Given the description of an element on the screen output the (x, y) to click on. 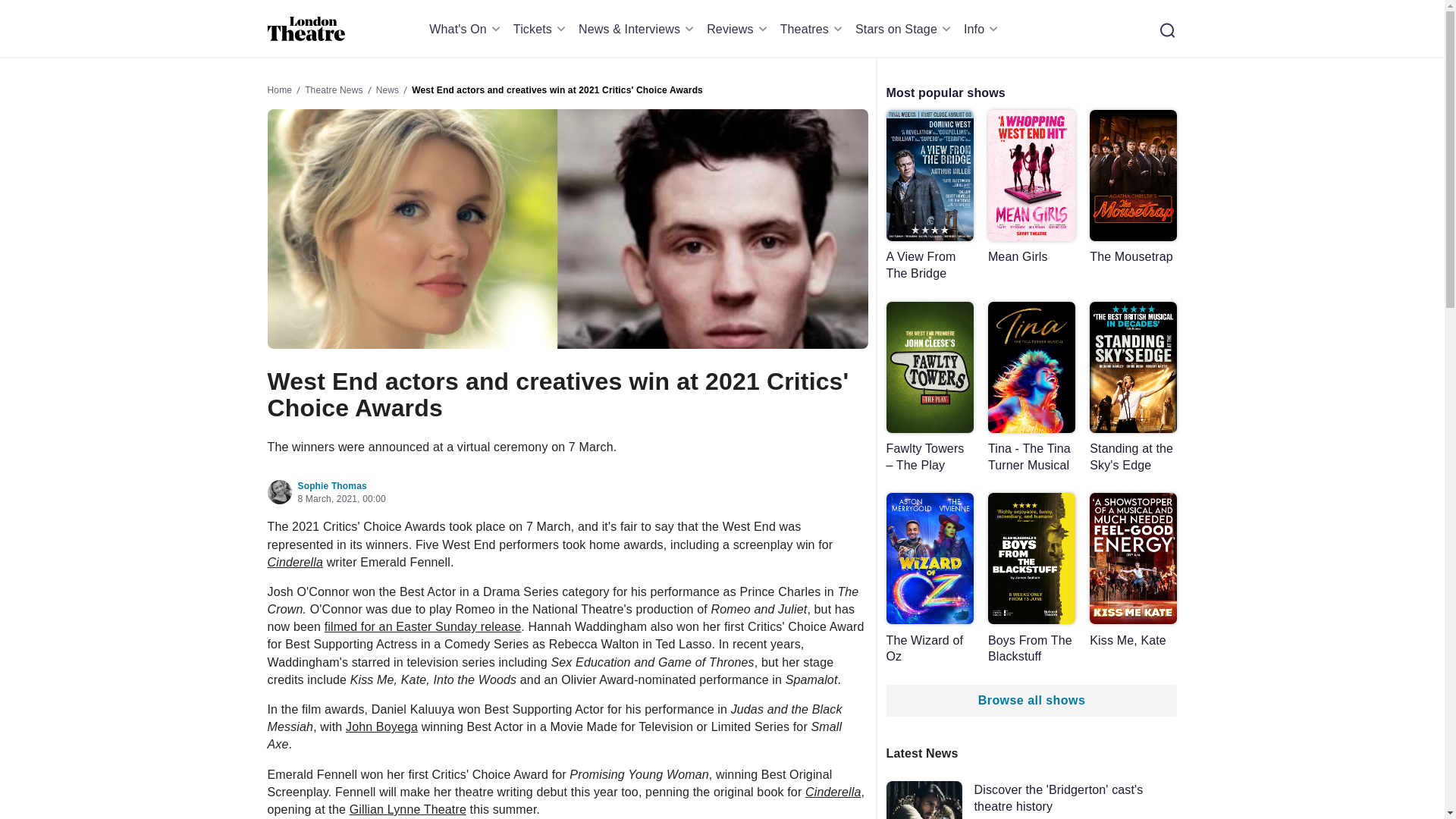
What's On (467, 28)
Read more about Boys From The Blackstuff (1031, 579)
Read more about Kiss Me, Kate (1132, 570)
Read more about The Wizard of Oz (928, 579)
Read more about The Mousetrap (1132, 187)
Read more about Mean Girls (1031, 187)
Read more about Standing at the Sky's Edge  (1132, 388)
Read more about Tina - The Tina Turner Musical (1031, 388)
Reviews (739, 28)
Read more about A View From The Bridge (928, 195)
Tickets (541, 28)
Home (305, 28)
